Given the description of an element on the screen output the (x, y) to click on. 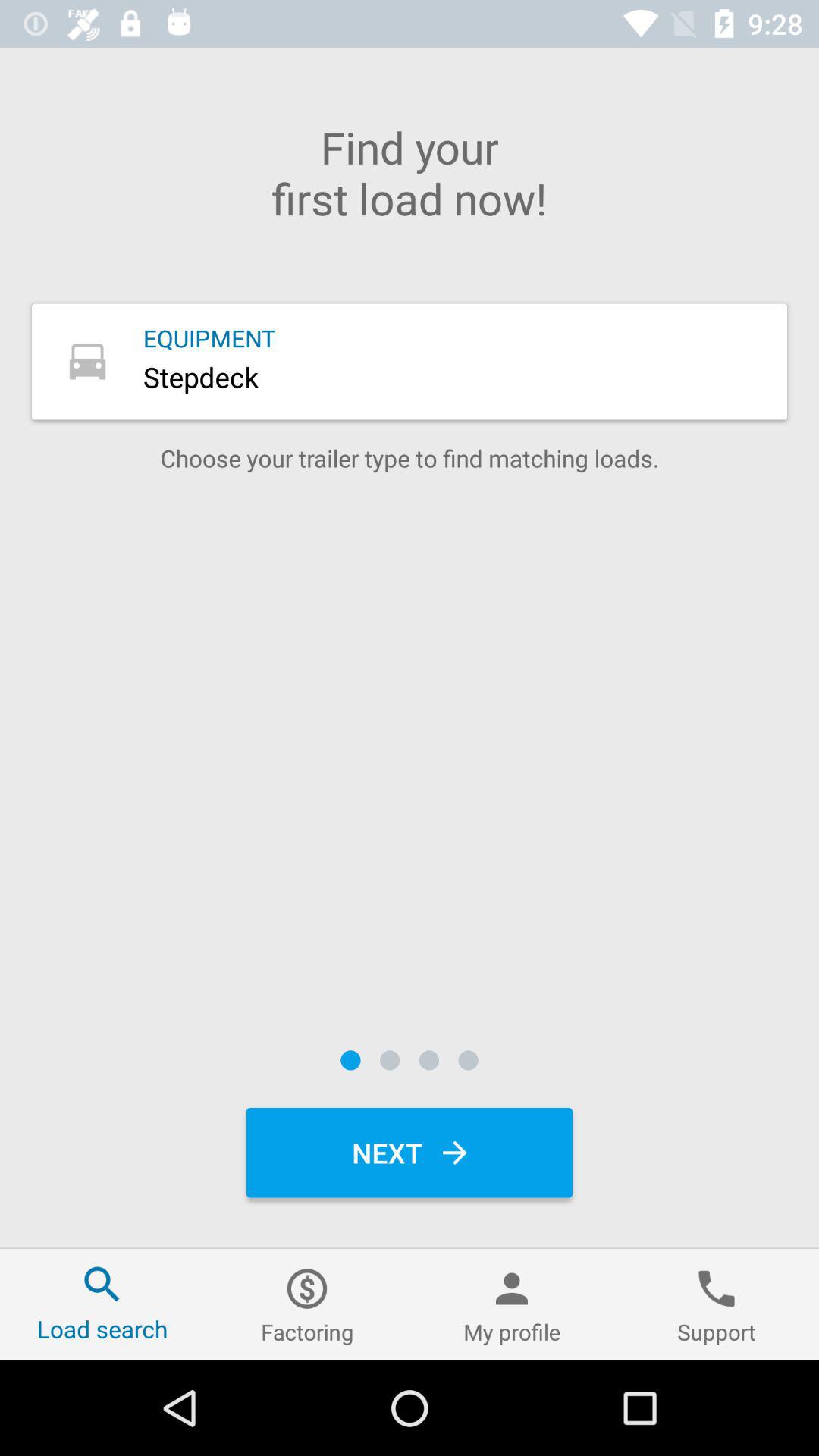
click next     icon (409, 1152)
